Given the description of an element on the screen output the (x, y) to click on. 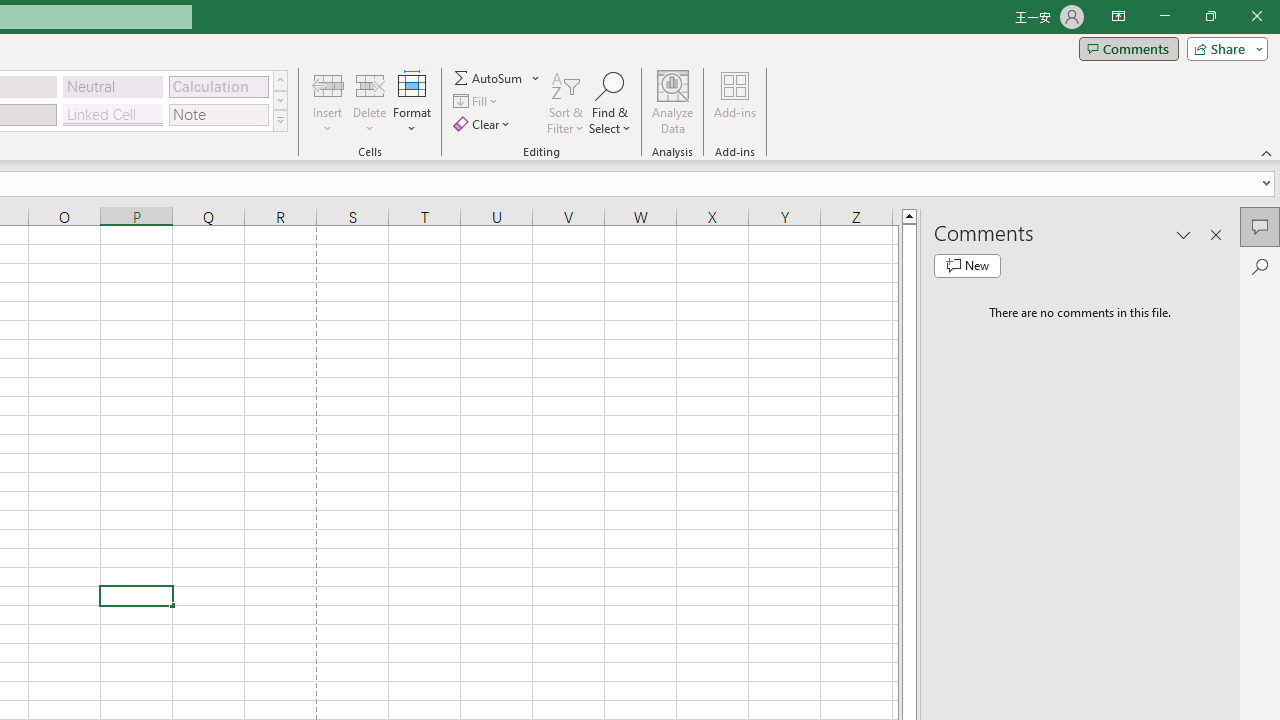
Analyze Data (673, 102)
Neutral (113, 86)
AutoSum (497, 78)
Ribbon Display Options (1118, 16)
Delete (369, 102)
Share (1223, 48)
Row Down (280, 100)
Fill (477, 101)
Close (1256, 16)
Find & Select (610, 102)
Class: NetUIImage (280, 120)
Search (1260, 266)
Comments (1128, 48)
Task Pane Options (1183, 234)
Insert Cells (328, 84)
